Given the description of an element on the screen output the (x, y) to click on. 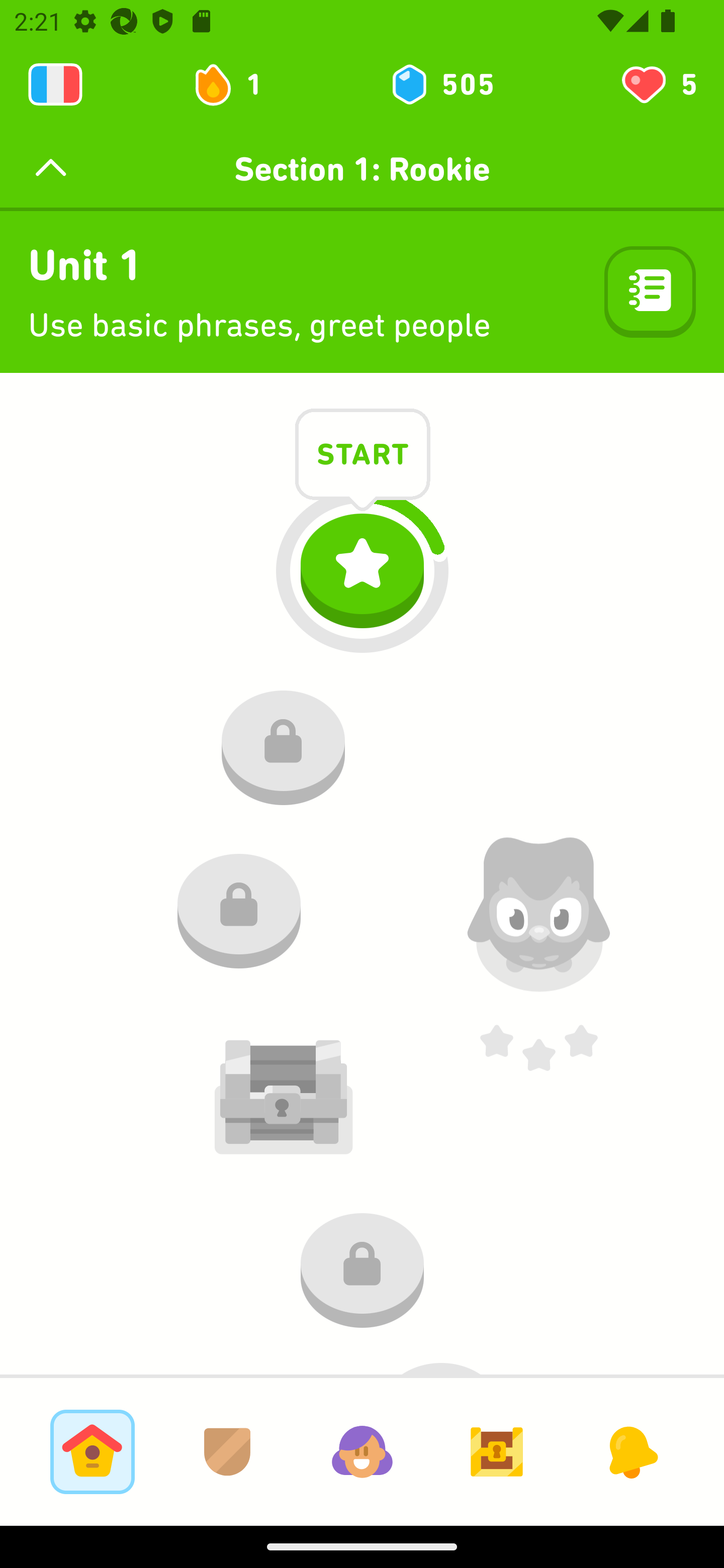
Learning 2131888976 (55, 84)
1 day streak 1 (236, 84)
505 (441, 84)
You have 5 hearts left 5 (657, 84)
Section 1: Rookie (362, 169)
START (362, 457)
Learn Tab (91, 1451)
Leagues Tab (227, 1451)
Profile Tab (361, 1451)
Goals Tab (496, 1451)
News Tab (631, 1451)
